Given the description of an element on the screen output the (x, y) to click on. 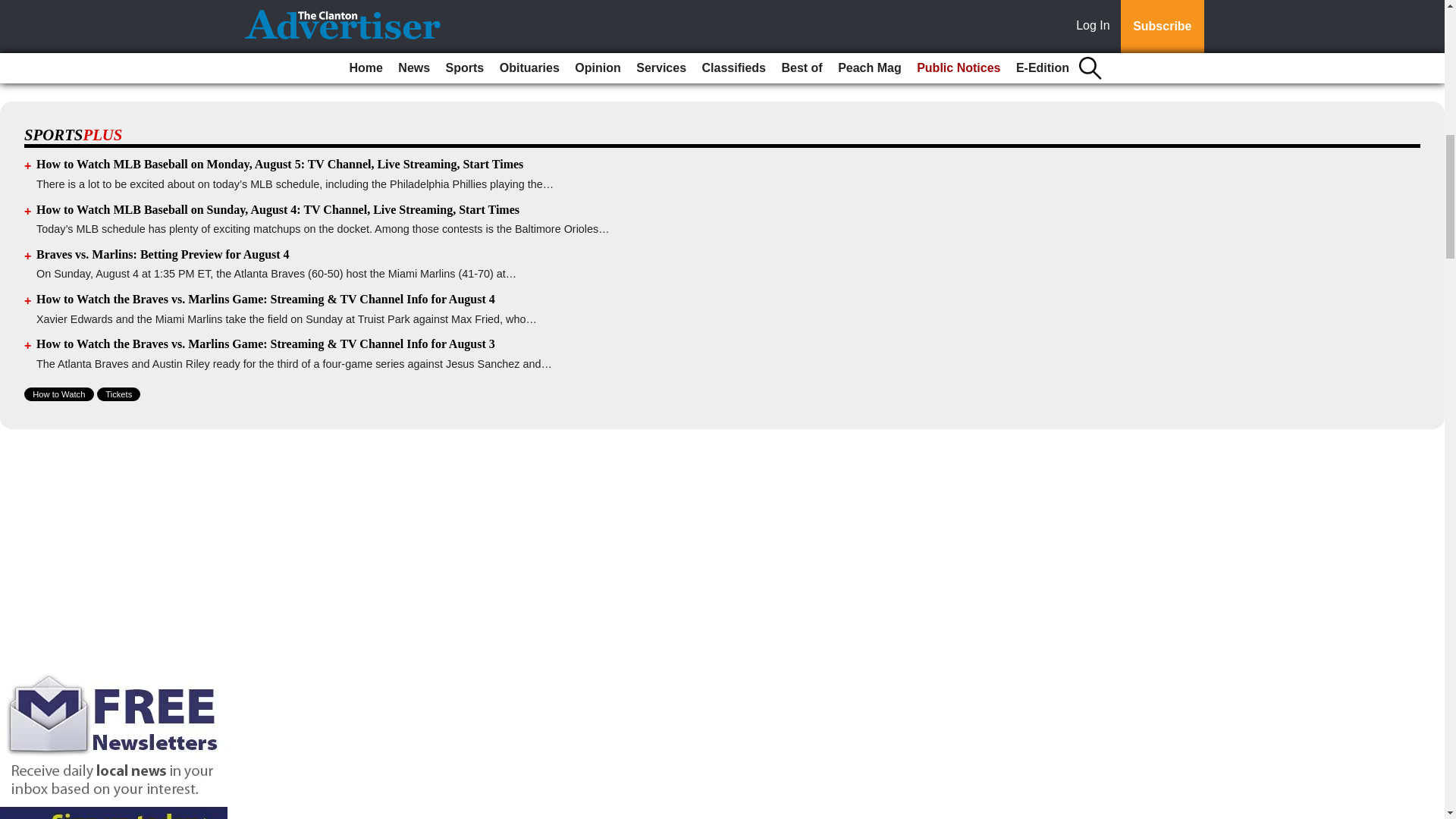
How to Watch (59, 394)
Tickets (118, 394)
Braves vs. Marlins: Betting Preview for August 4 (162, 254)
